Given the description of an element on the screen output the (x, y) to click on. 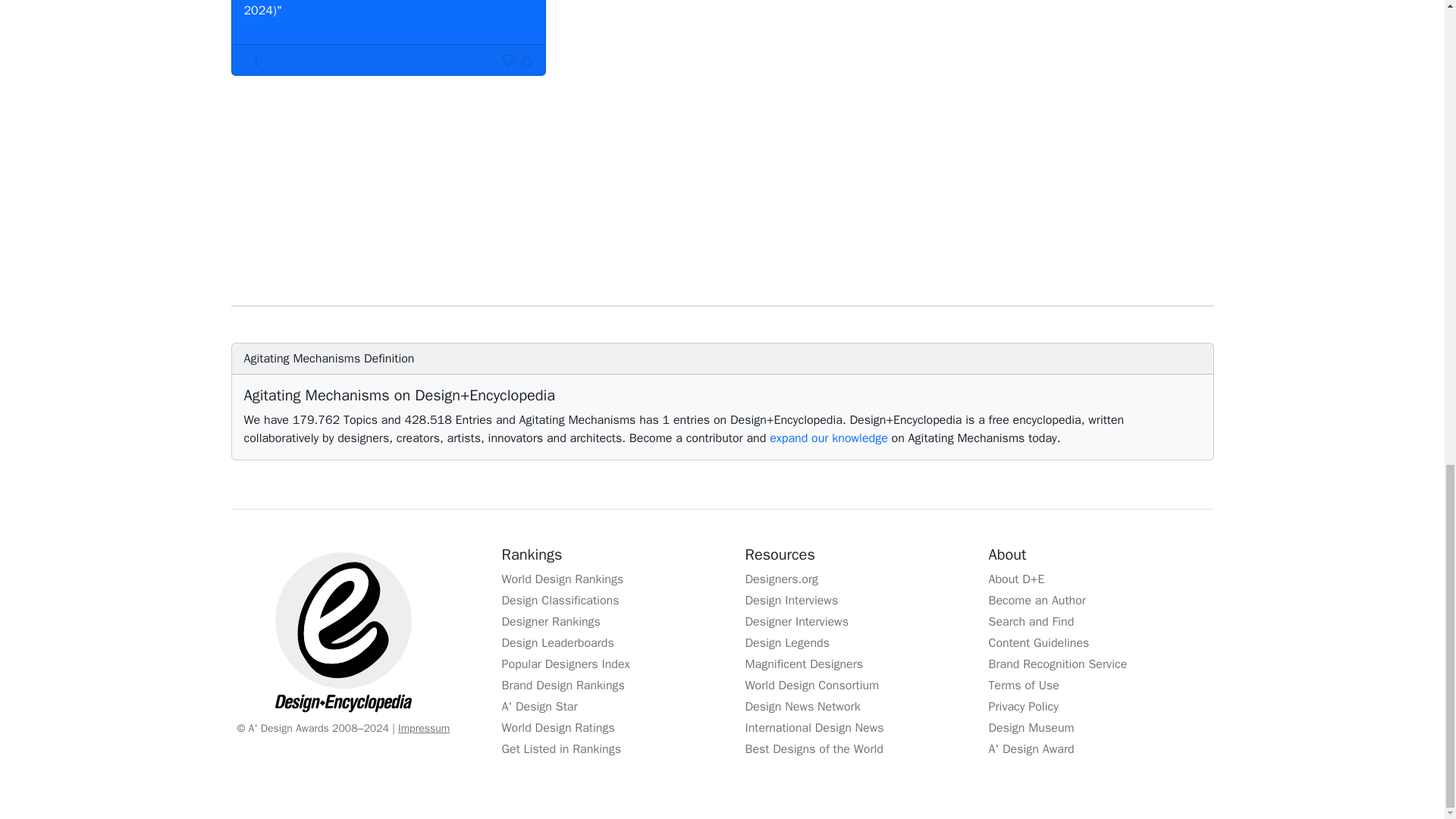
Design Interviews (791, 600)
International Design News (813, 727)
Best Designs of the World (813, 749)
Designers.org (781, 579)
World Design Rankings (563, 579)
Design Legends (786, 642)
Brand Design Rankings (563, 685)
Become an Author (1037, 600)
Brand Recognition Service (1057, 663)
World Design Consortium (811, 685)
Terms of Use (1023, 685)
A' Design Star (540, 706)
Popular Designers Index (566, 663)
expand our knowledge (829, 437)
A' Design Award (1031, 749)
